Given the description of an element on the screen output the (x, y) to click on. 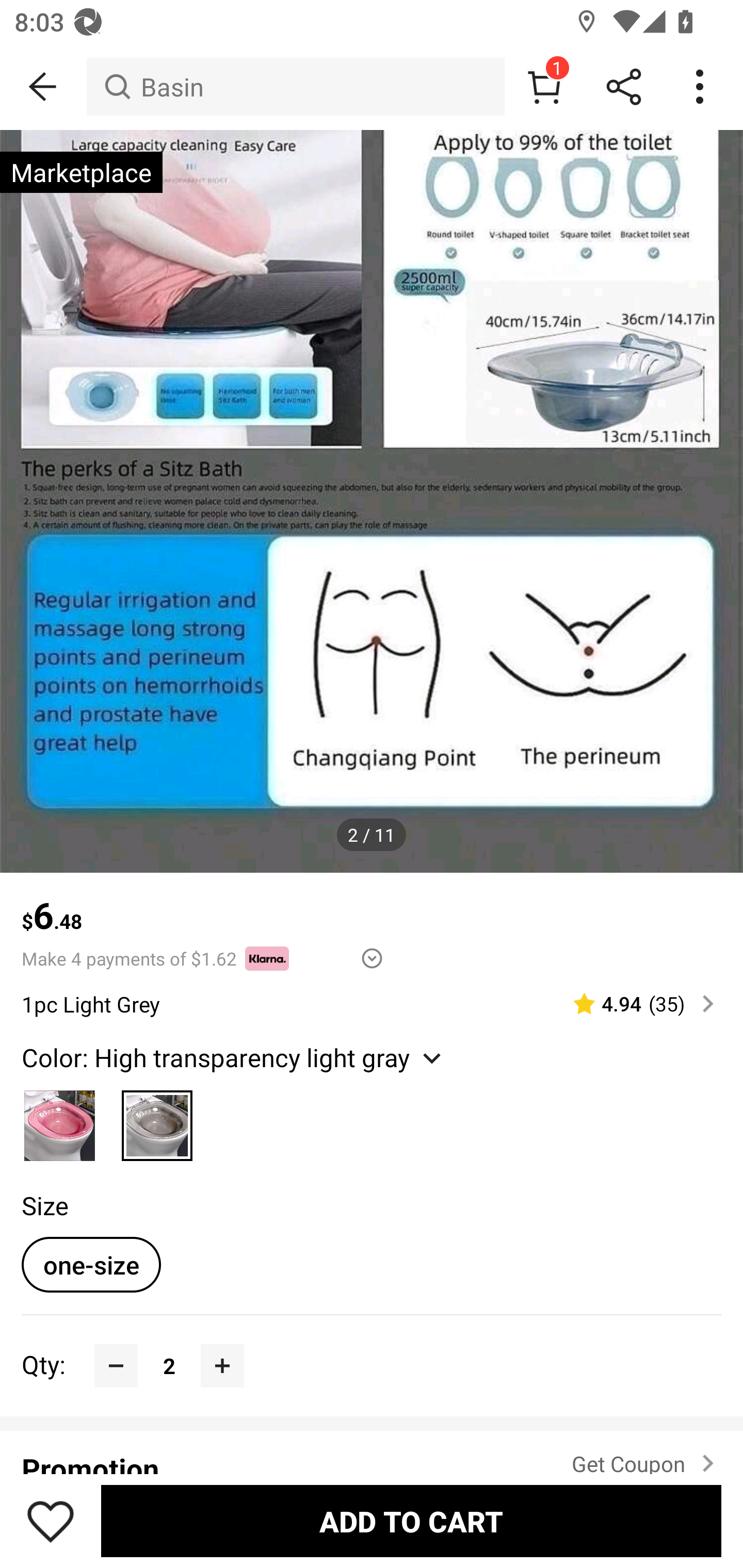
BACK (43, 86)
1 (543, 87)
Basin (295, 87)
PHOTOS Marketplace 2 / 11 (371, 501)
2 / 11 (371, 834)
$6.48 Make 4 payments of $1.62 (371, 921)
4.94 (35) (635, 1003)
Color: High transparency light gray (233, 1056)
High transparency light gray (156, 1120)
Size (44, 1205)
one-size one-sizeselected option (91, 1264)
Qty: 2 (371, 1343)
Promotion Get Coupon (371, 1451)
ADD TO CART (411, 1520)
Save (50, 1520)
